Given the description of an element on the screen output the (x, y) to click on. 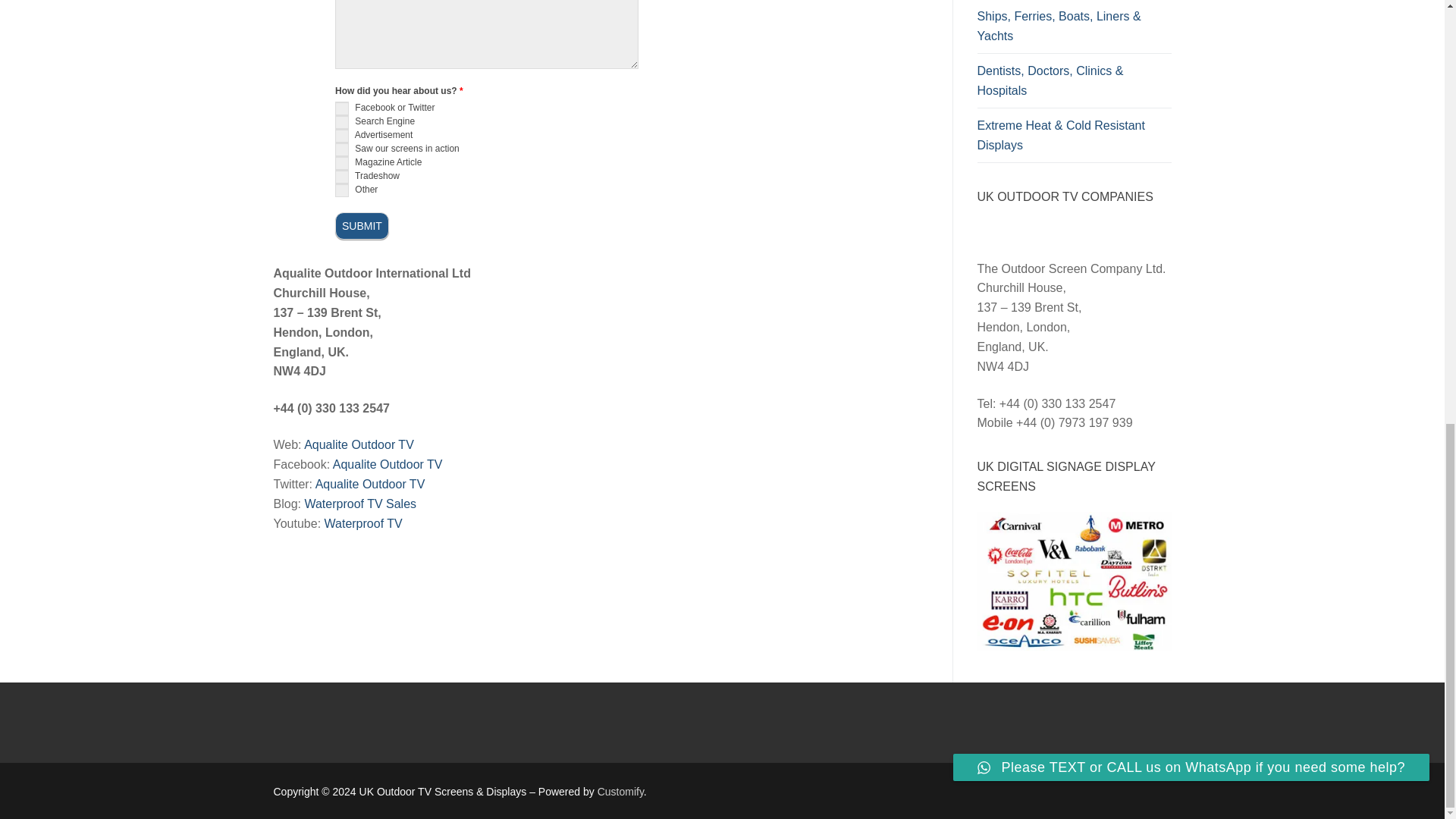
Facebook or Twitter (341, 108)
Advertisement (341, 135)
Aqualite Outdoor TV (370, 483)
Waterproof TV Sales (360, 503)
Waterproof TV (363, 522)
Other (341, 190)
Aqualite Outdoor TV (387, 463)
Search Engine (341, 121)
Saw our screens in action (341, 149)
Tradeshow (341, 176)
